Given the description of an element on the screen output the (x, y) to click on. 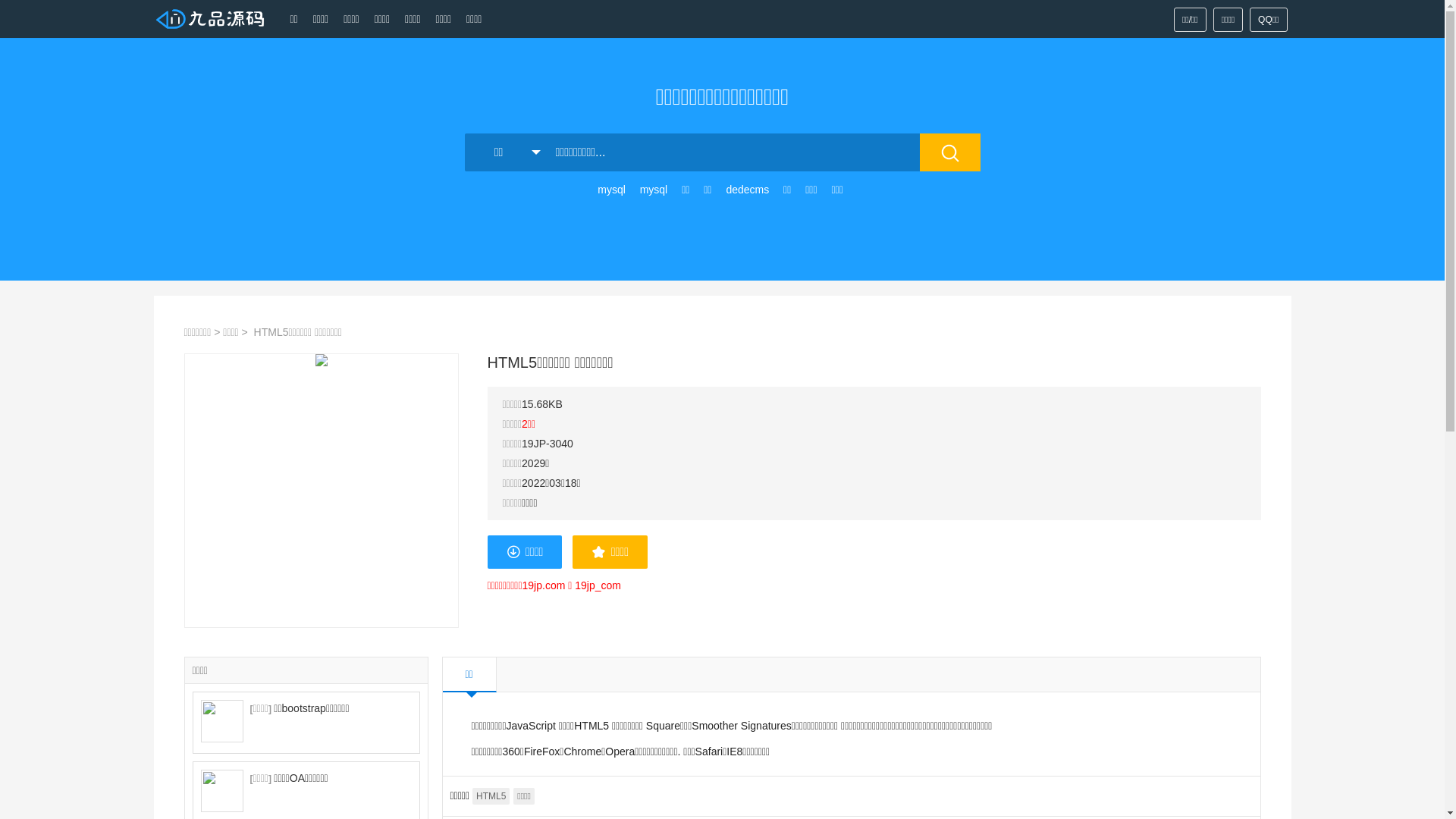
HTML5 Element type: text (490, 795)
dedecms Element type: text (746, 189)
mysql Element type: text (653, 189)
mysql Element type: text (611, 189)
